Given the description of an element on the screen output the (x, y) to click on. 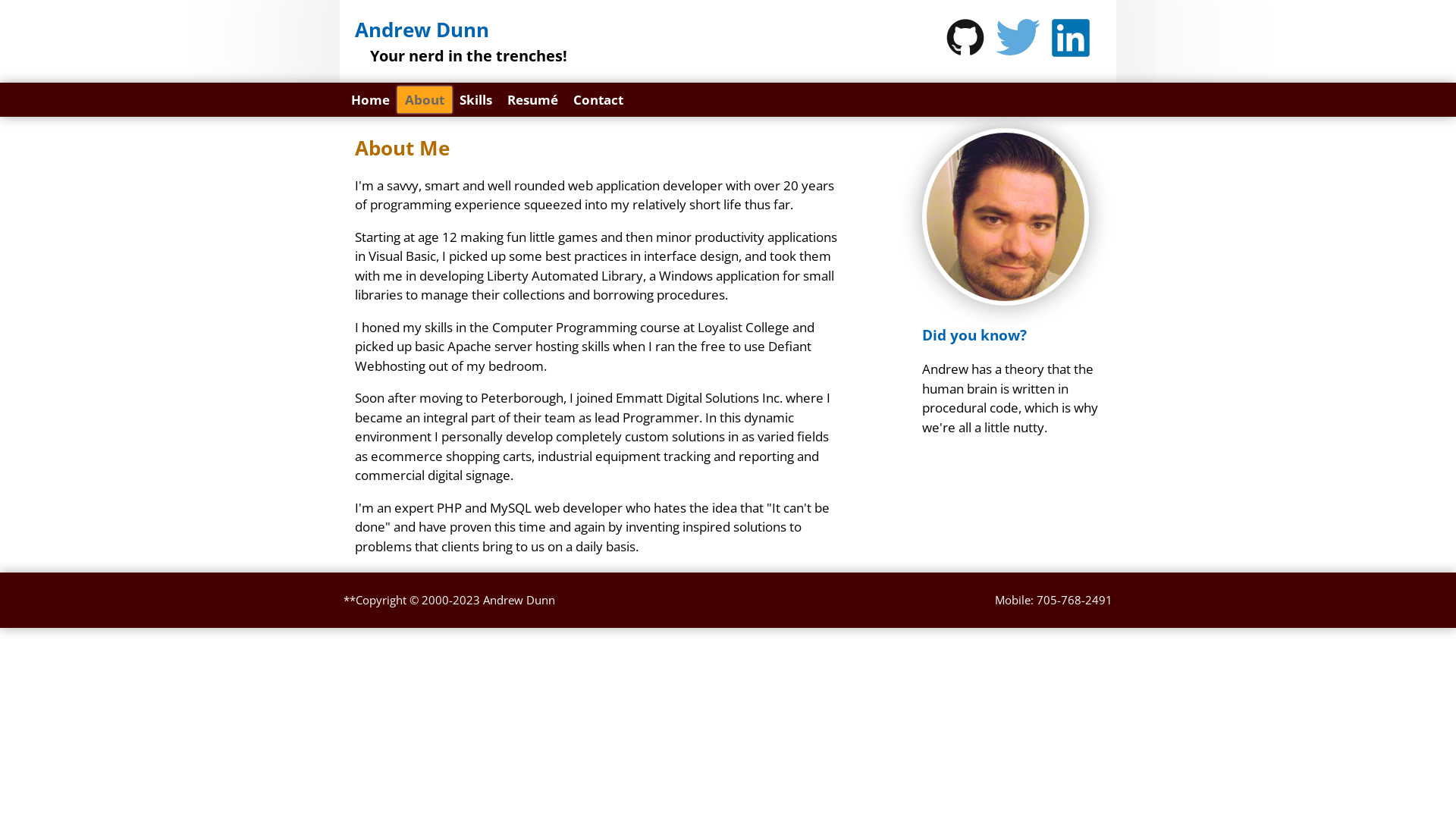
Follow Andrew on Twitter Element type: hover (1017, 36)
Skills Element type: text (475, 99)
Home Element type: text (370, 99)
About Element type: text (424, 99)
Check out Andrew's public github repo Element type: hover (965, 36)
View Andrew Dunn's profile on LinkedIn Element type: hover (1070, 37)
Contact Element type: text (597, 99)
